Given the description of an element on the screen output the (x, y) to click on. 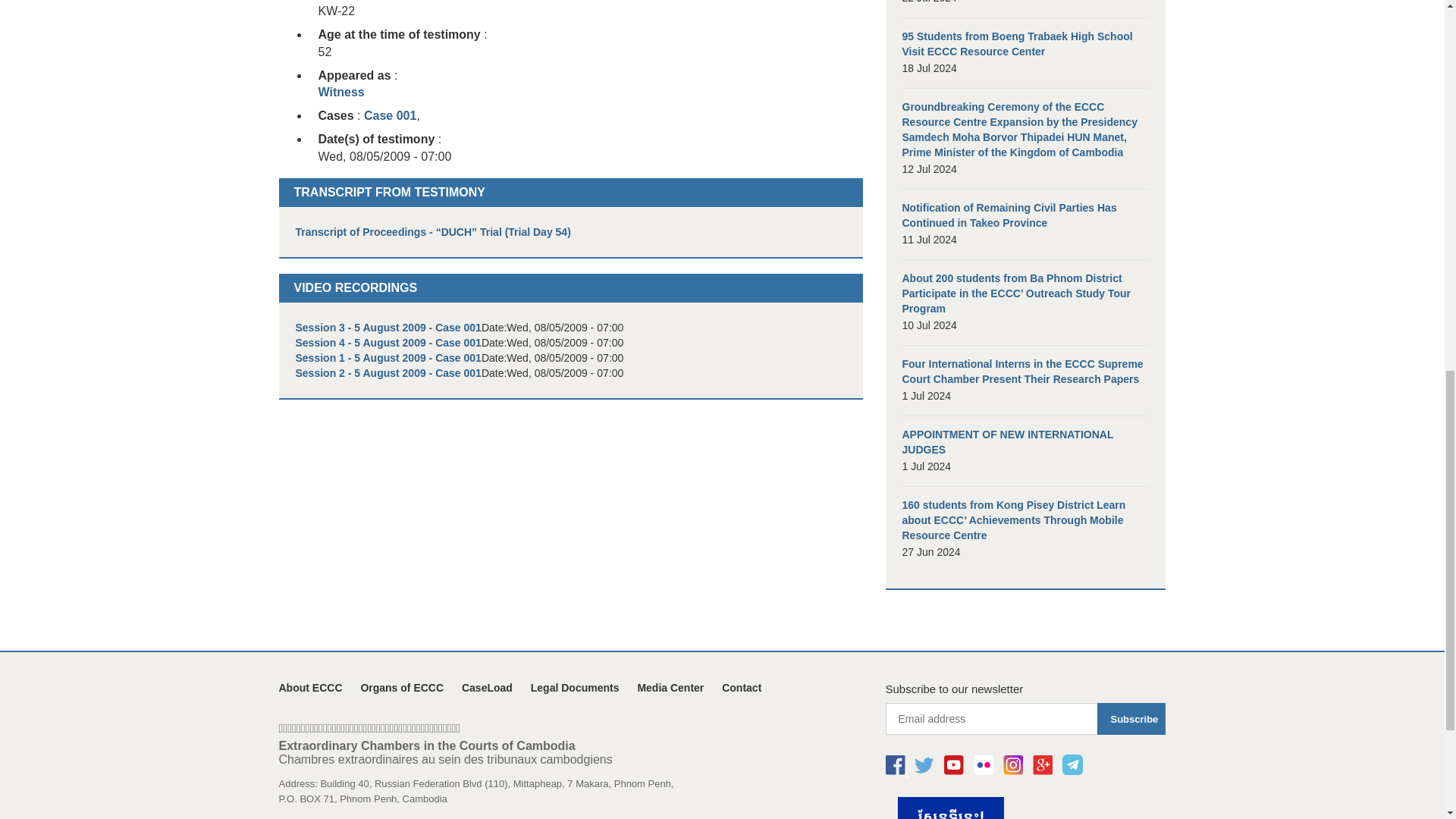
Subscribe (1131, 718)
